Given the description of an element on the screen output the (x, y) to click on. 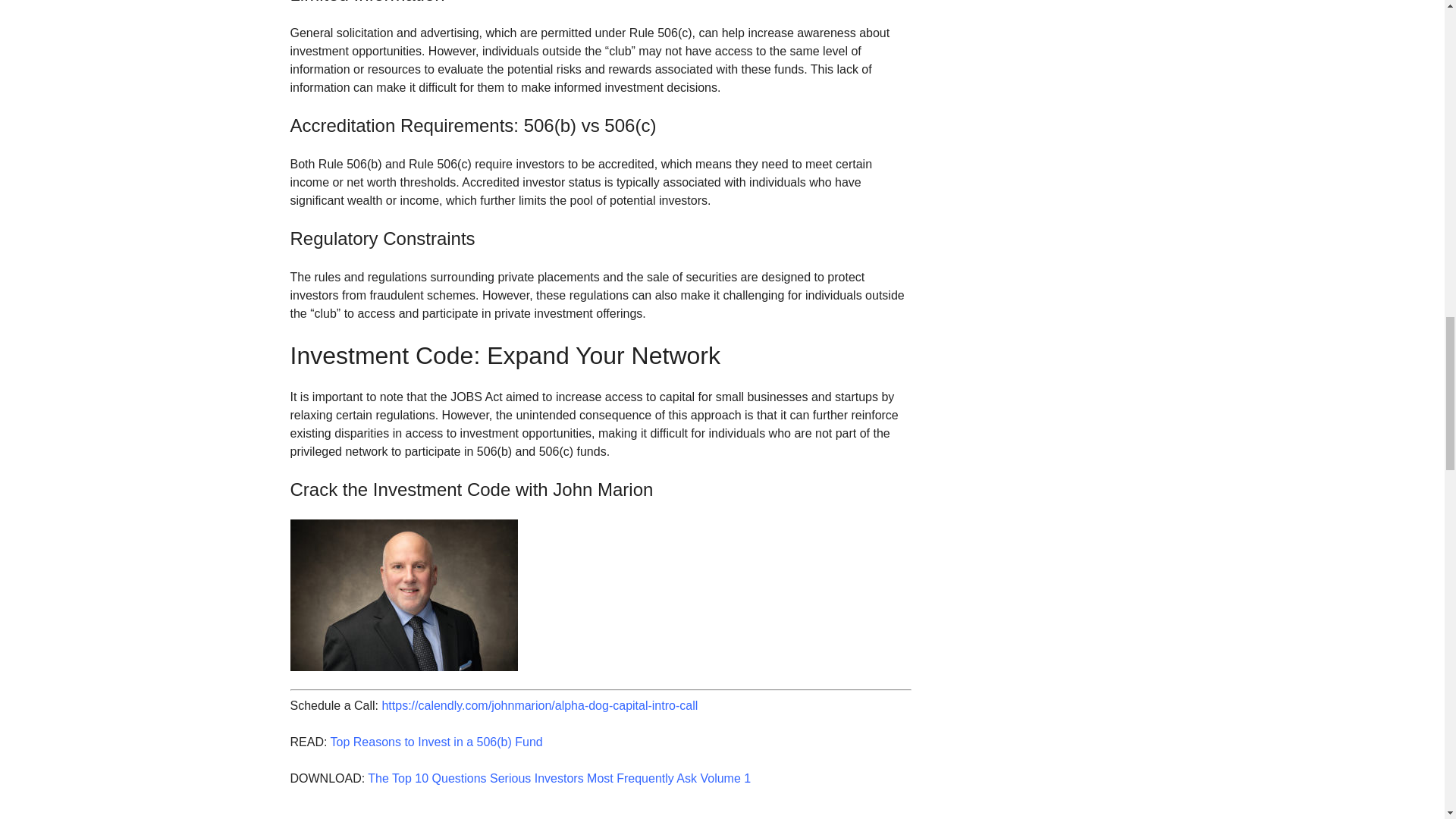
john-marion-agent-on-duty-1500x1000 - John Marion (402, 594)
